Given the description of an element on the screen output the (x, y) to click on. 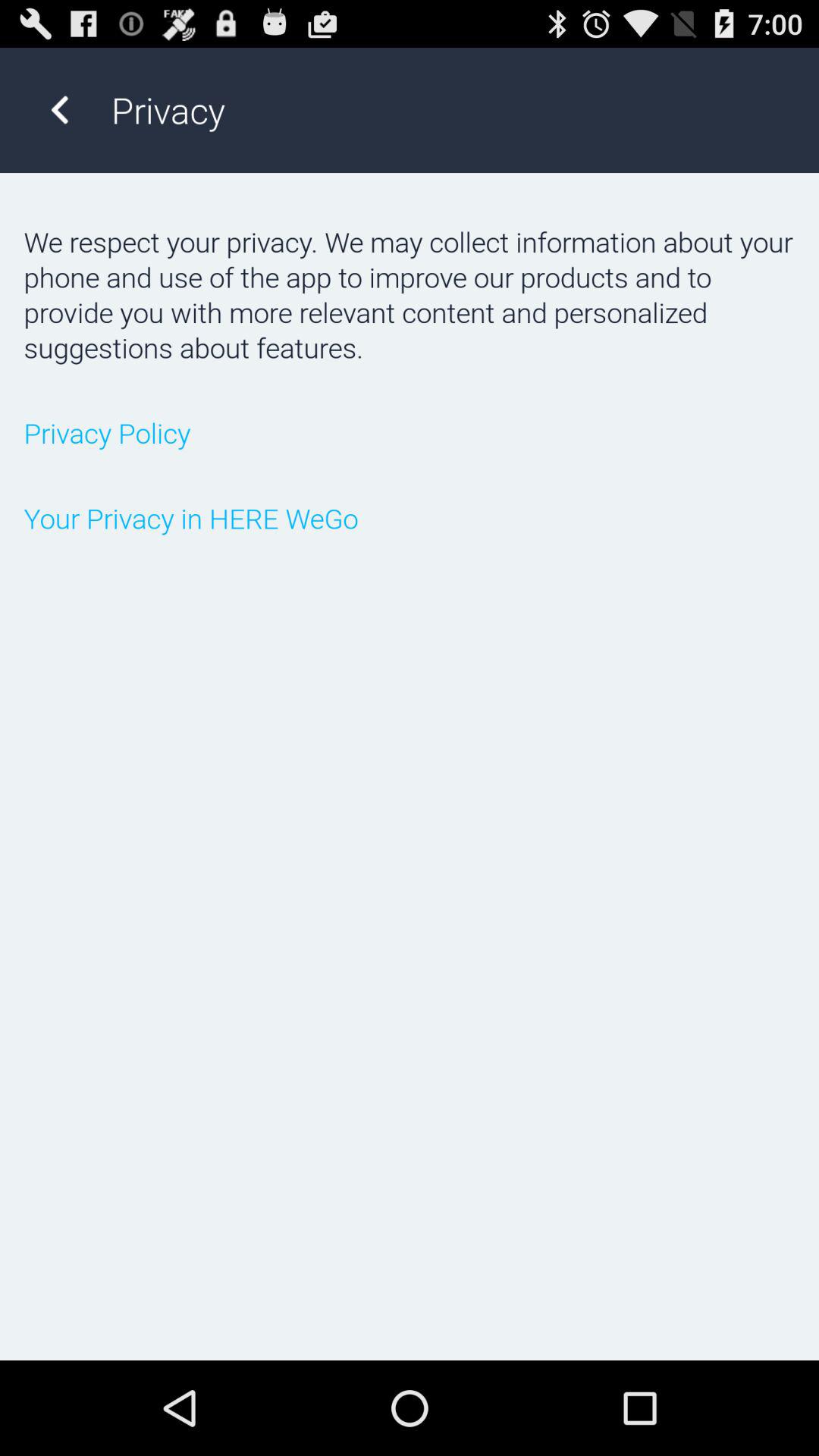
press the icon next to privacy (59, 109)
